Given the description of an element on the screen output the (x, y) to click on. 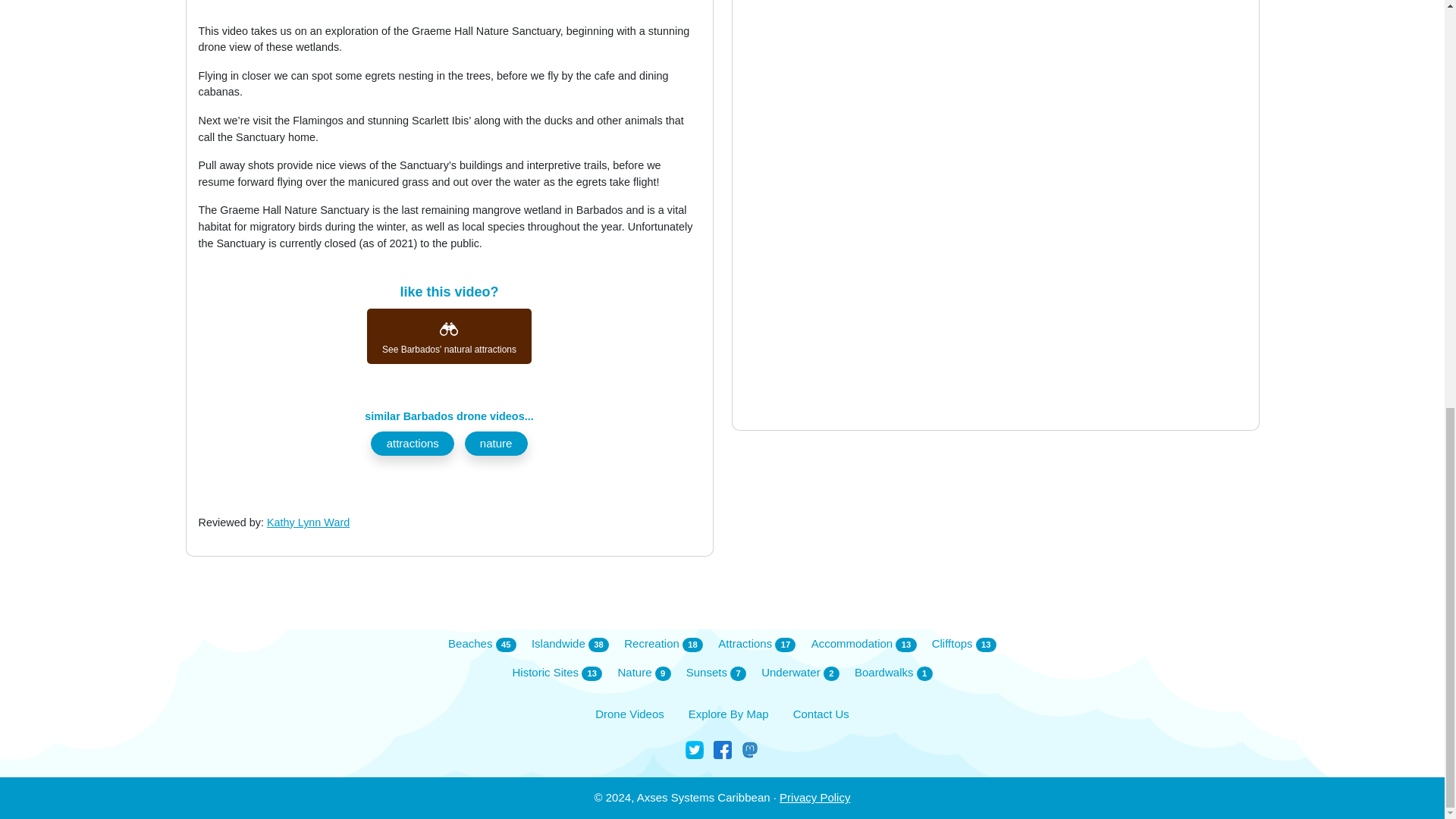
Accommodation 13 (863, 643)
Explore By Map (728, 713)
Boardwalks 1 (893, 672)
See Barbados' natural attractions (448, 335)
Sunsets 7 (715, 672)
Recreation 18 (663, 643)
attractions (412, 443)
Drone Videos (629, 713)
Islandwide 38 (569, 643)
nature (495, 443)
Privacy Policy (814, 797)
Nature 9 (643, 672)
Historic Sites 13 (557, 672)
Beaches 45 (482, 643)
Underwater 2 (800, 672)
